Given the description of an element on the screen output the (x, y) to click on. 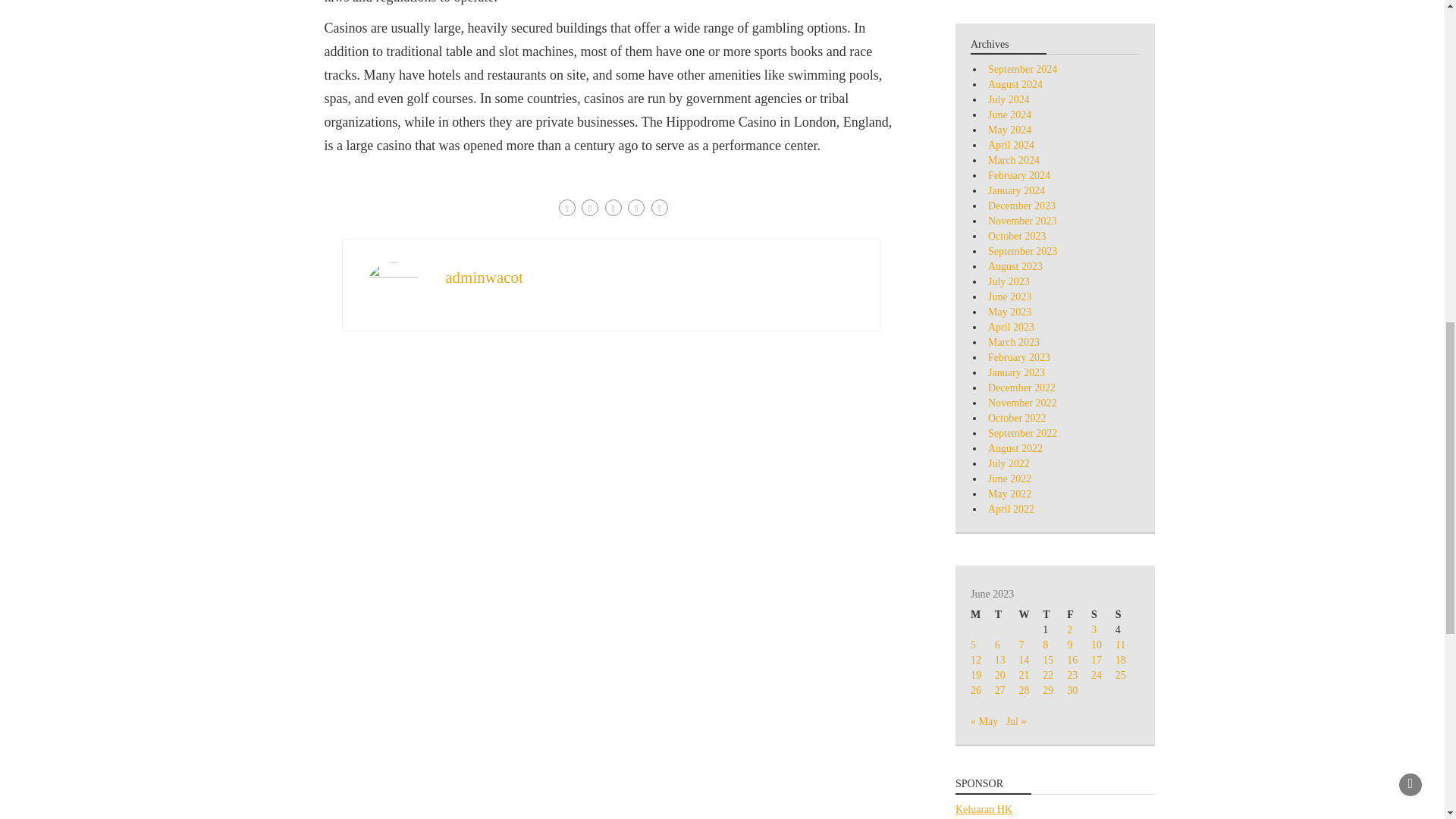
Tuesday (1006, 614)
Sunday (1127, 614)
May 2024 (1009, 129)
June 2024 (1009, 114)
April 2024 (1010, 144)
March 2024 (1013, 160)
August 2024 (1015, 84)
Friday (1078, 614)
Monday (982, 614)
September 2024 (1022, 69)
